Given the description of an element on the screen output the (x, y) to click on. 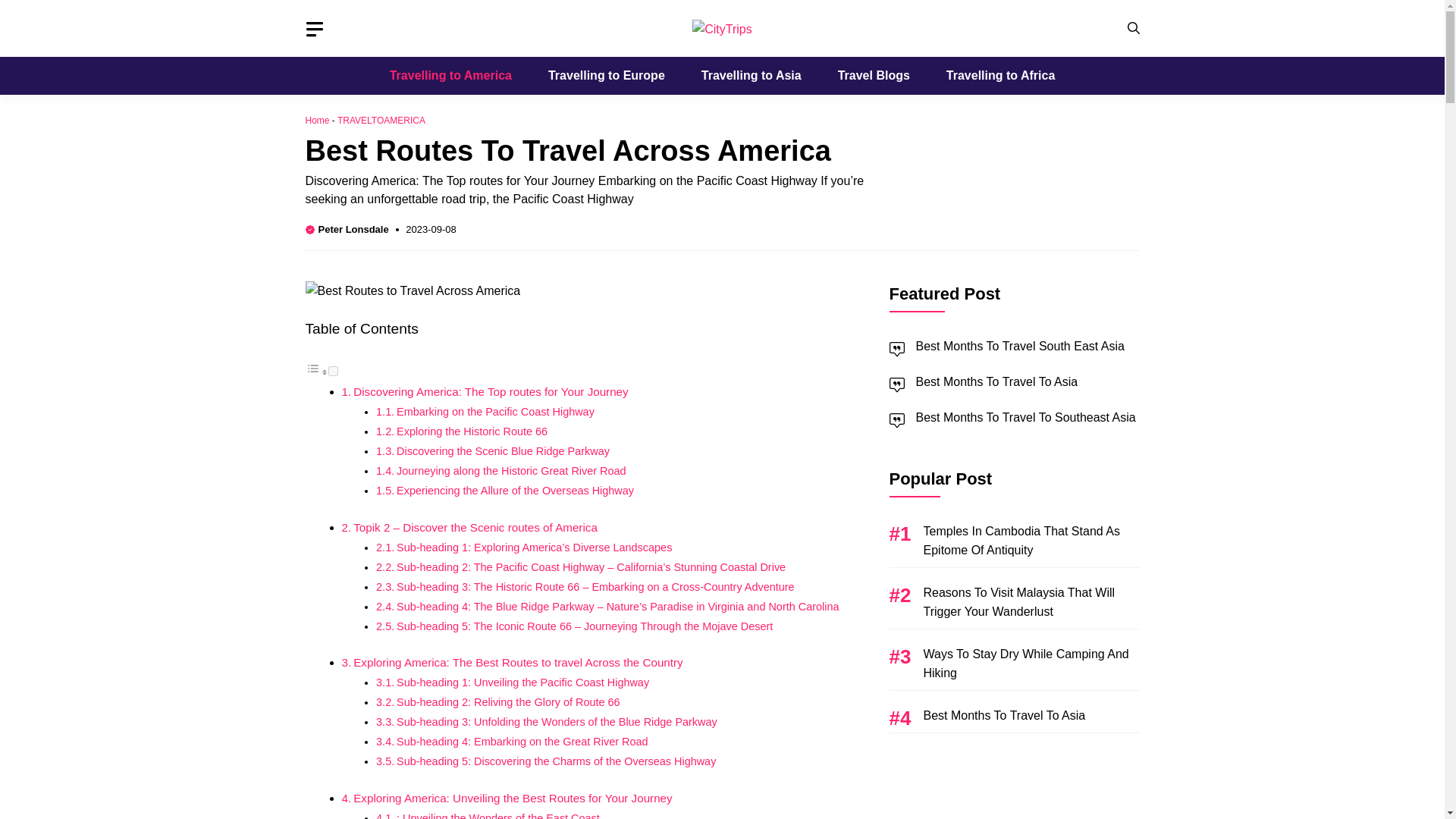
Travelling to America (450, 75)
 Discovering the Scenic Blue Ridge Parkway (503, 451)
Sub-heading 2: Reliving the Glory of Route 66 (508, 702)
Embarking on the Pacific Coast Highway (495, 411)
Travel Blogs (873, 75)
Travelling to Asia (750, 75)
: Unveiling the Wonders of the East Coast (497, 815)
 Experiencing the Allure of the Overseas Highway (514, 490)
 Discovering America: The Top routes for Your Journey (490, 391)
Discovering the Scenic Blue Ridge Parkway (503, 451)
Best Routes To Travel Across America 6 (411, 291)
 Embarking on the Pacific Coast Highway (495, 411)
on (332, 370)
